Given the description of an element on the screen output the (x, y) to click on. 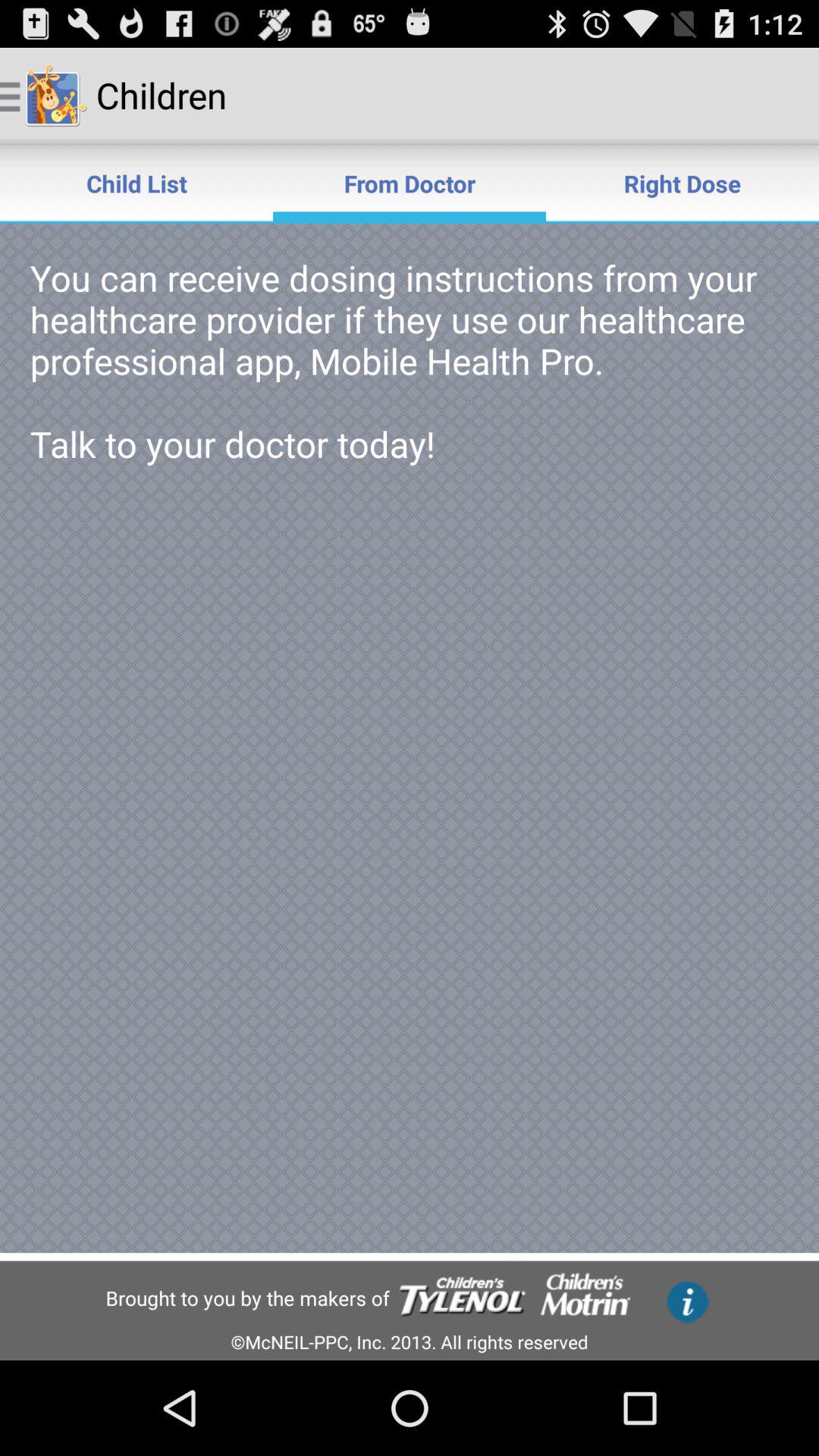
click the icon above the you can receive (682, 183)
